Given the description of an element on the screen output the (x, y) to click on. 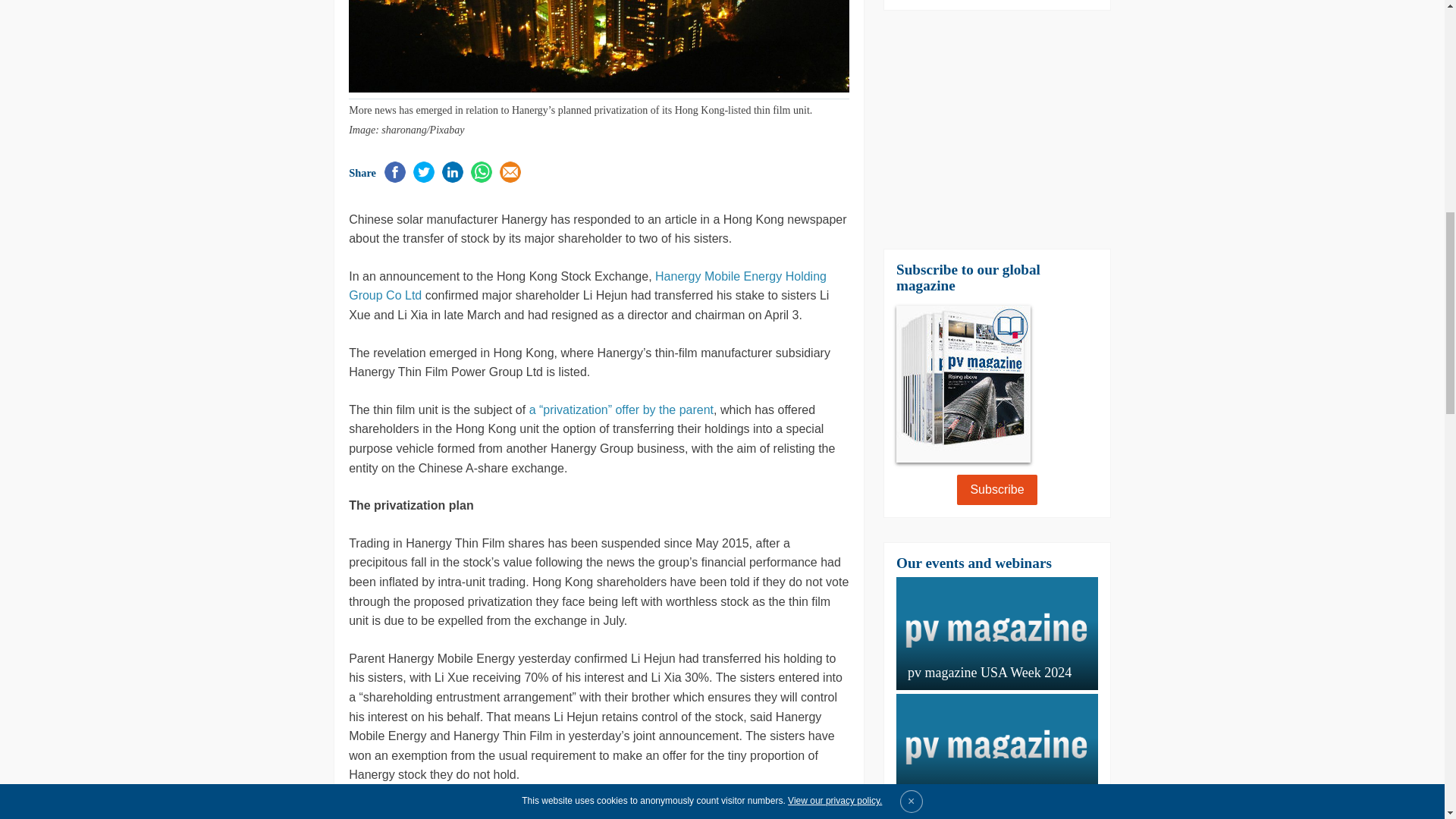
3rd party ad content (996, 129)
